Given the description of an element on the screen output the (x, y) to click on. 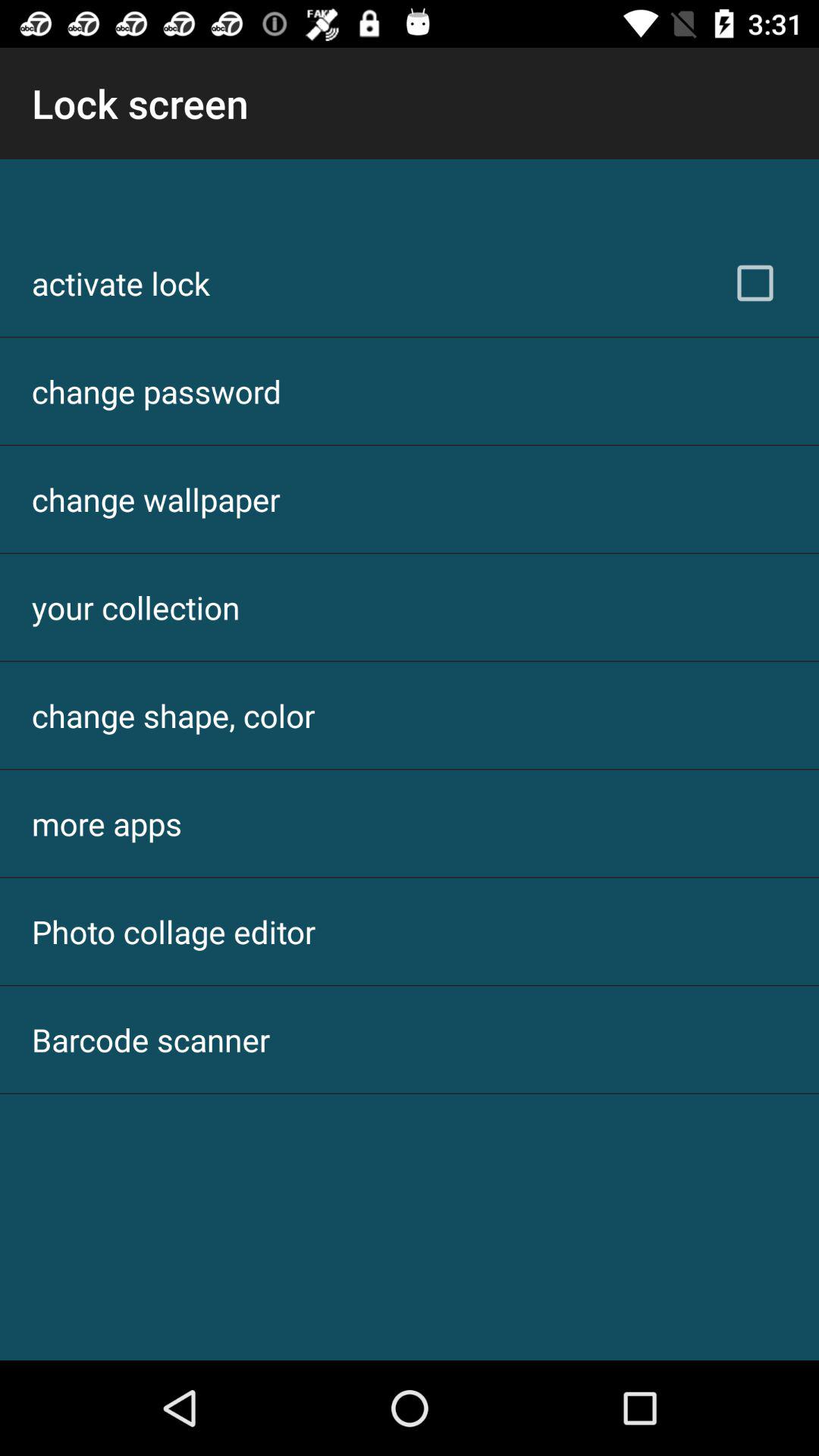
tap app above the barcode scanner app (173, 931)
